Given the description of an element on the screen output the (x, y) to click on. 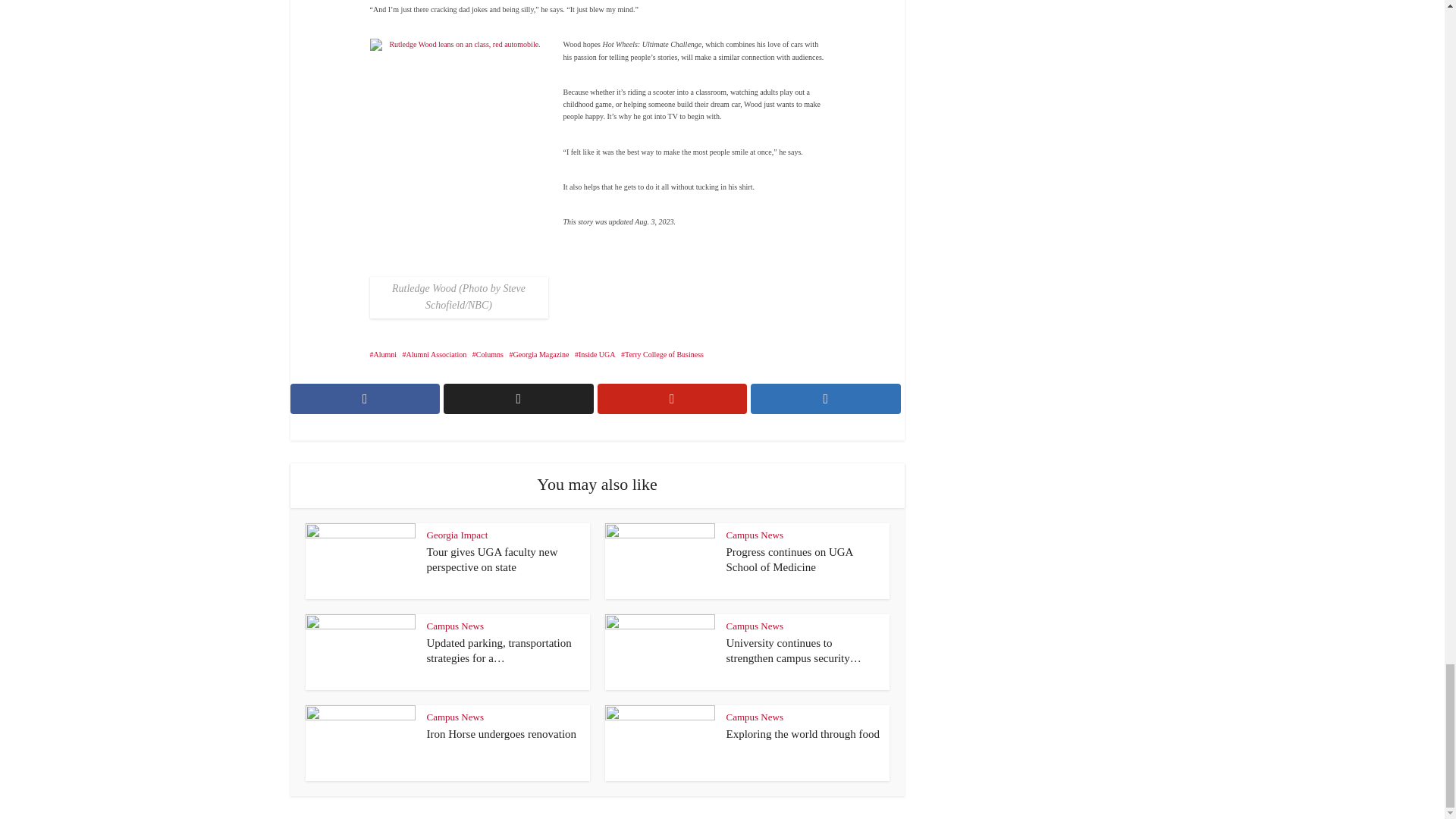
Columns (487, 354)
Campus News (454, 625)
Progress continues on UGA School of Medicine (789, 559)
Tour gives UGA faculty new perspective on state (491, 559)
Progress continues on UGA School of Medicine (789, 559)
Georgia Impact (456, 534)
Alumni Association (435, 354)
Alumni (383, 354)
Inside UGA (595, 354)
